Given the description of an element on the screen output the (x, y) to click on. 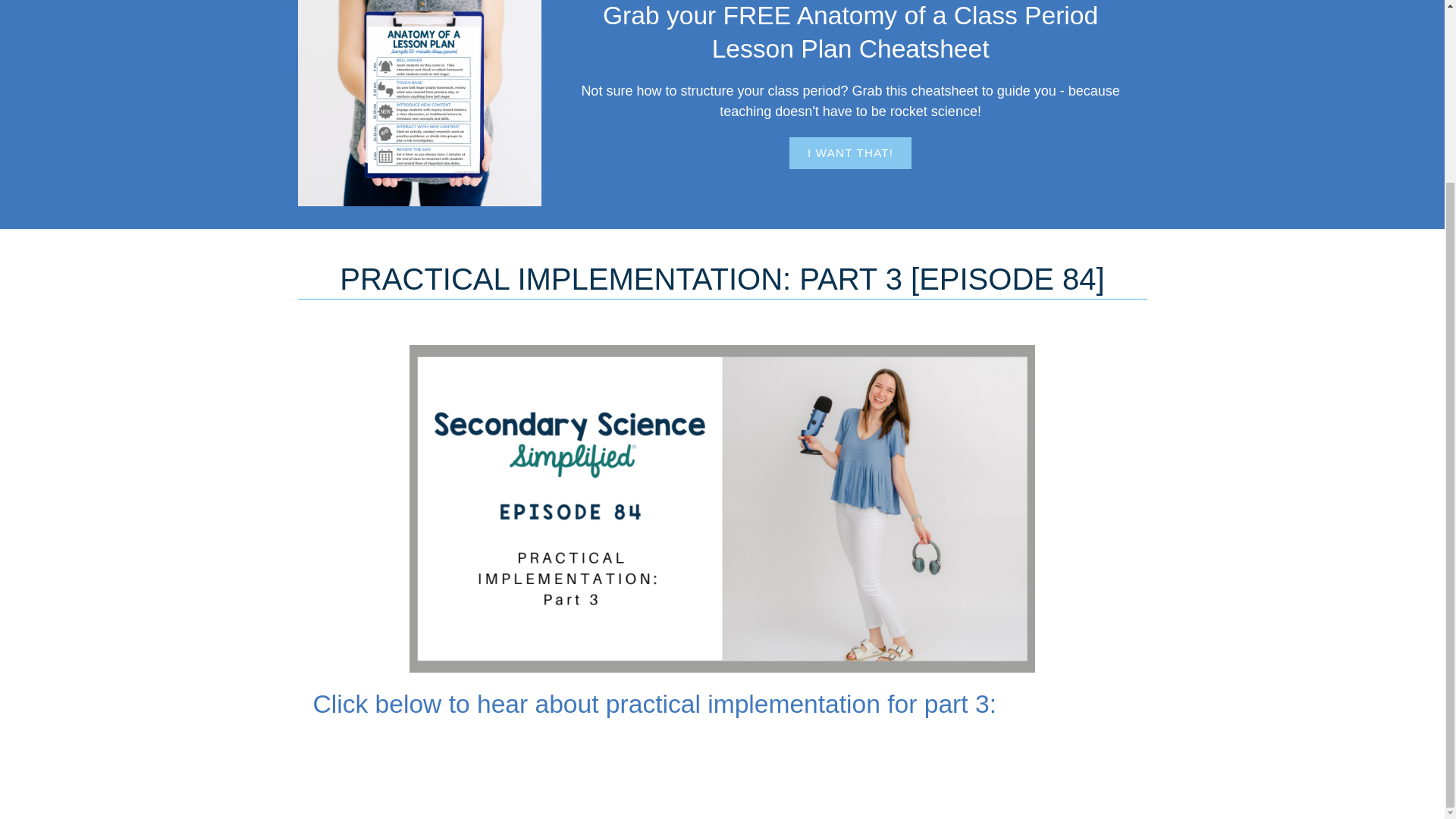
I WANT THAT! (850, 152)
